Given the description of an element on the screen output the (x, y) to click on. 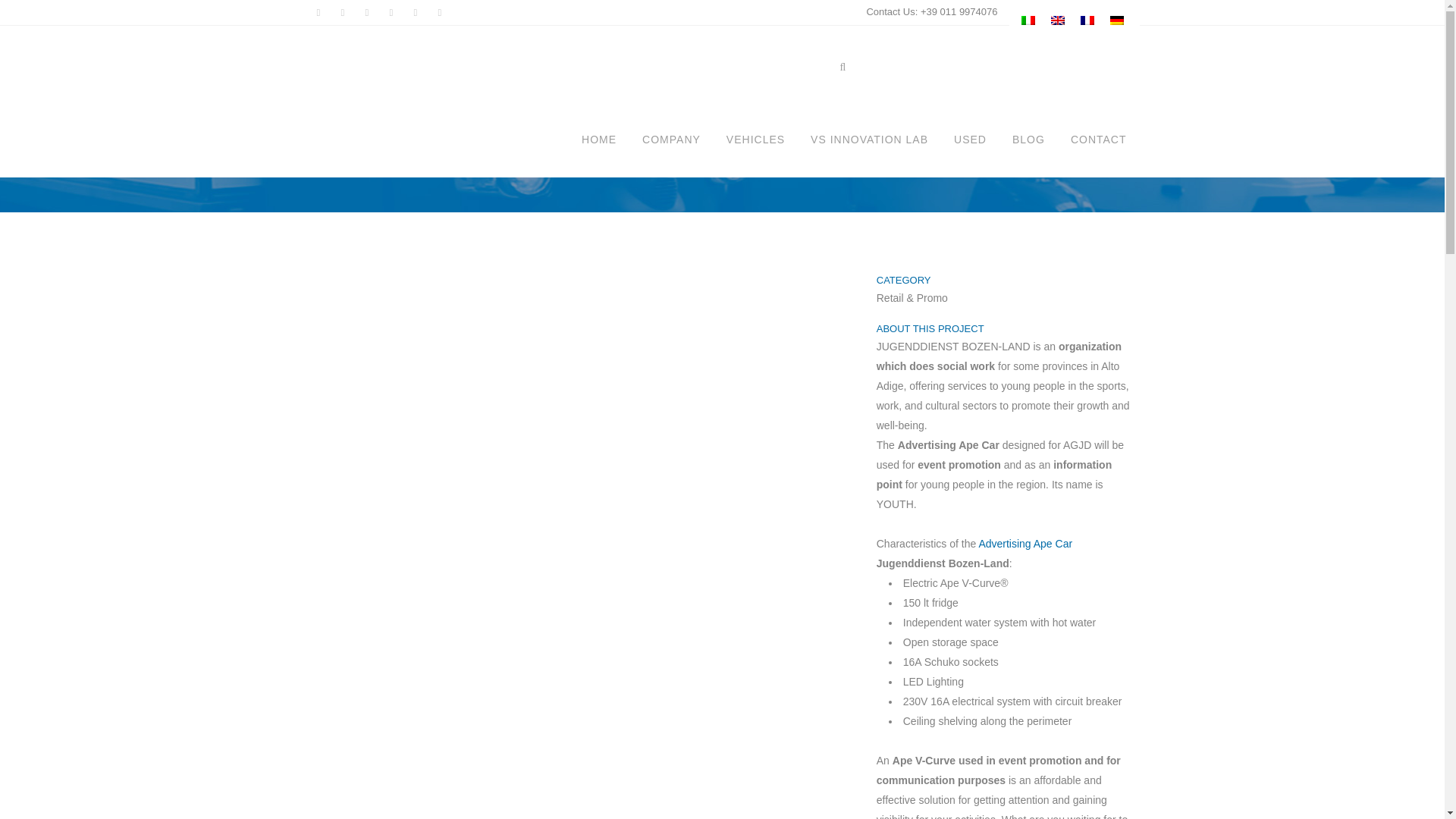
CONTACT (1099, 139)
VEHICLES (755, 139)
VS INNOVATION LAB (868, 139)
COMPANY (670, 139)
